Given the description of an element on the screen output the (x, y) to click on. 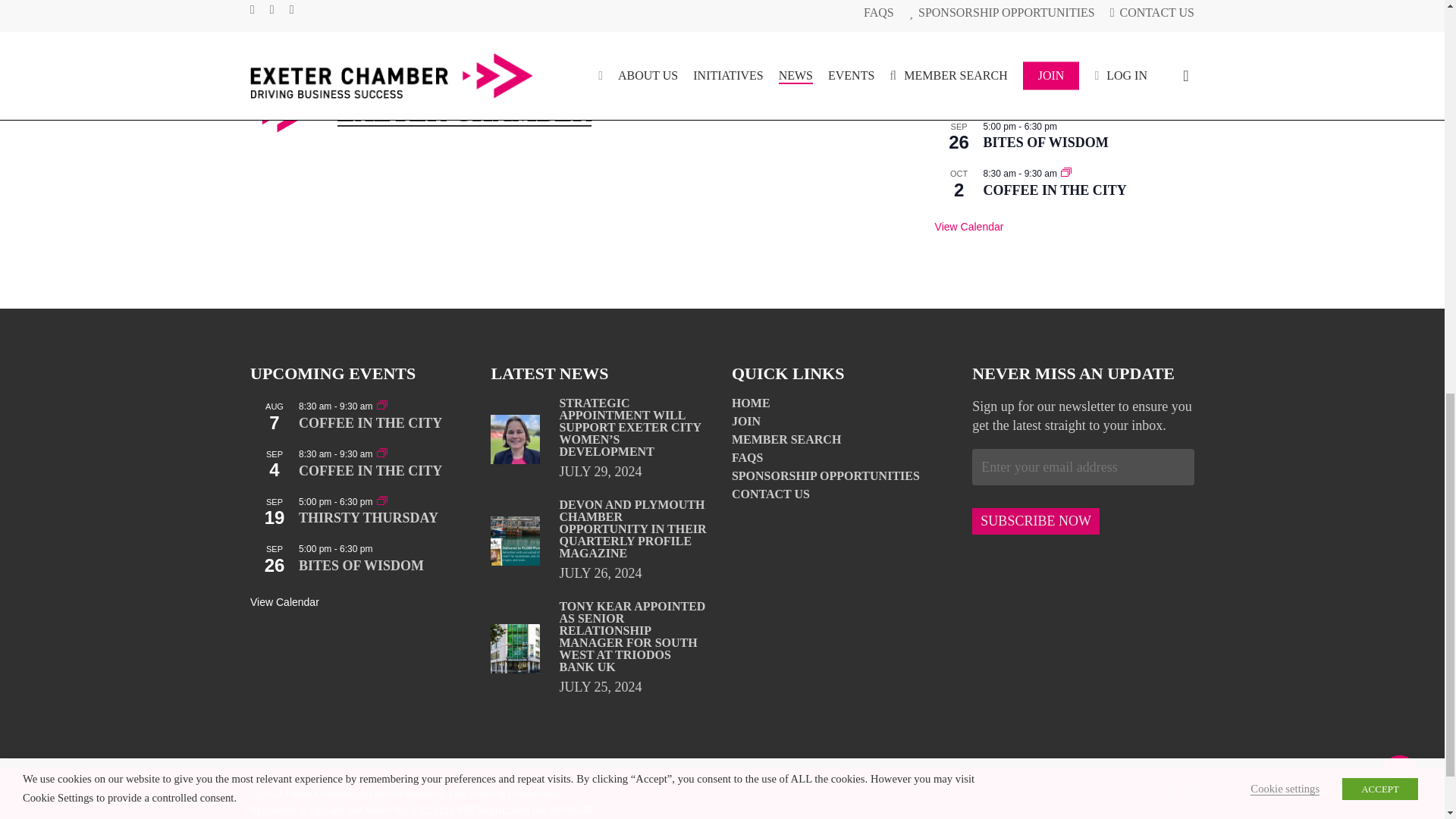
COFFEE IN THE CITY (1055, 4)
Event Series (1066, 173)
Event Series (1066, 78)
Business (277, 12)
BITES OF WISDOM (1046, 142)
COFFEE IN THE CITY (1055, 190)
Event Series (1066, 76)
View more events. (969, 226)
Event Series (1066, 30)
EXETER CHAMBER (463, 112)
COFFEE IN THE CITY (1055, 48)
Event Series (1066, 31)
Event Series (382, 404)
THIRSTY THURSDAY (1053, 95)
Subscribe now (1035, 520)
